Given the description of an element on the screen output the (x, y) to click on. 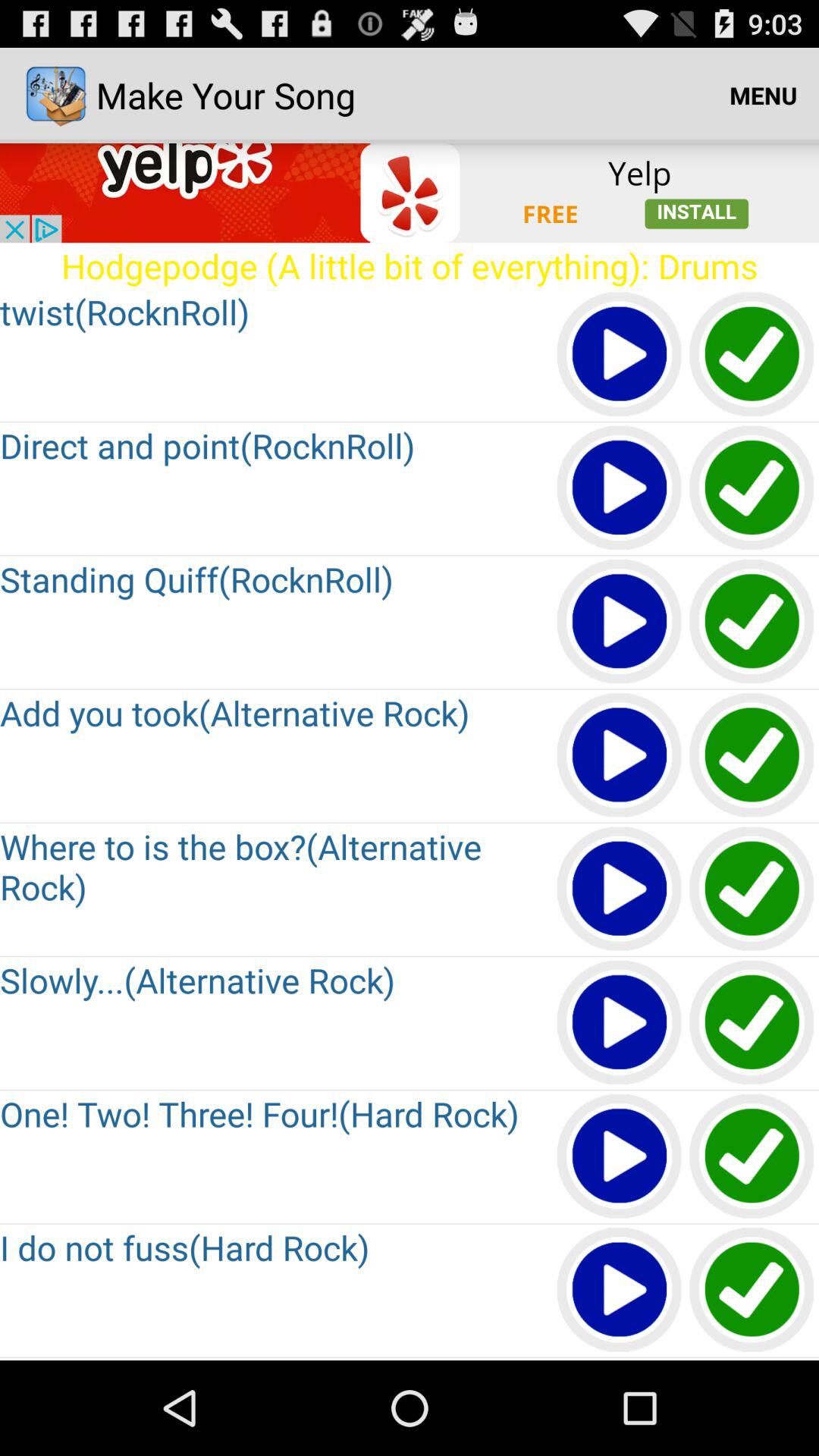
play song (619, 1290)
